Given the description of an element on the screen output the (x, y) to click on. 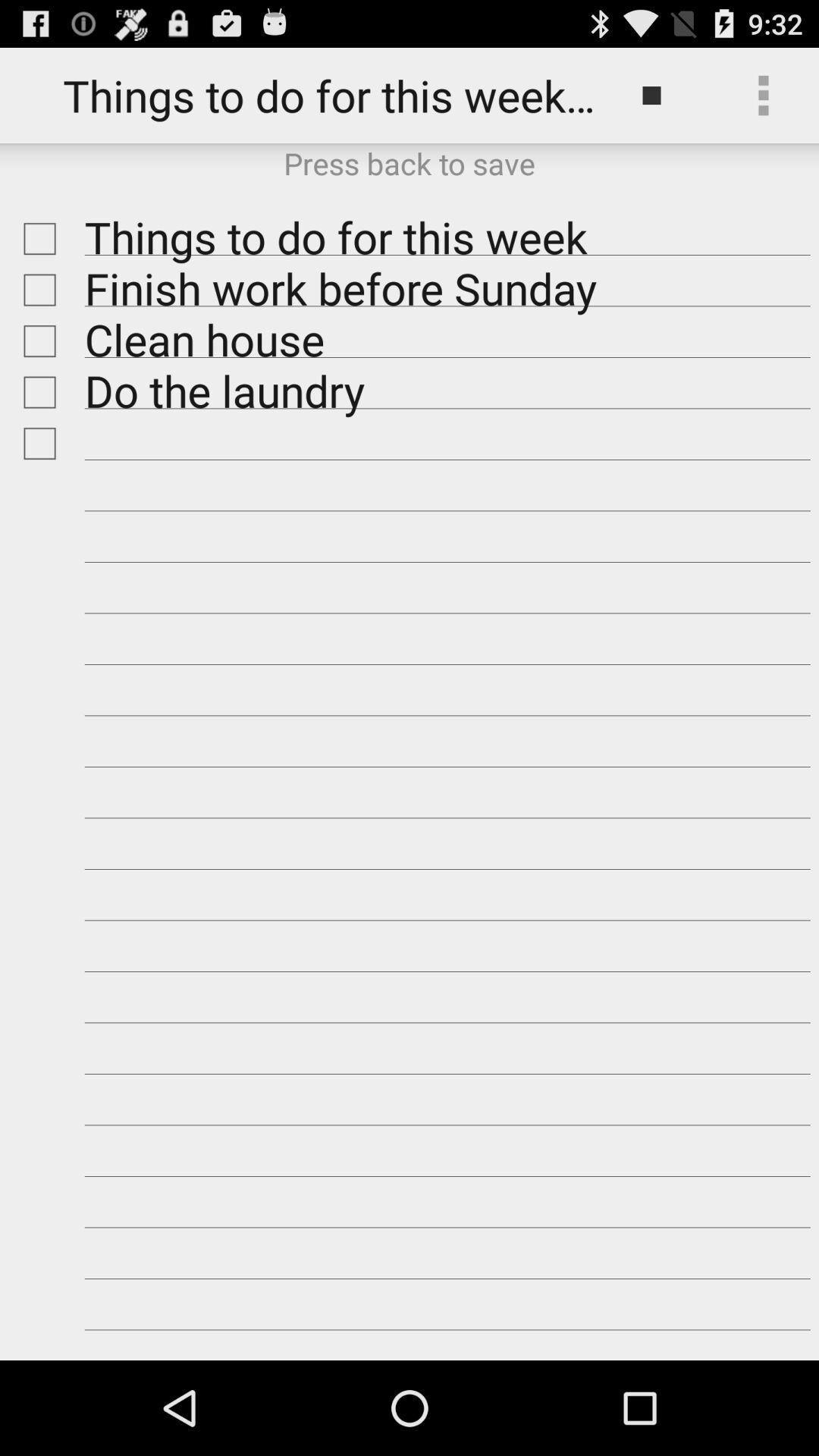
clean house (35, 340)
